Given the description of an element on the screen output the (x, y) to click on. 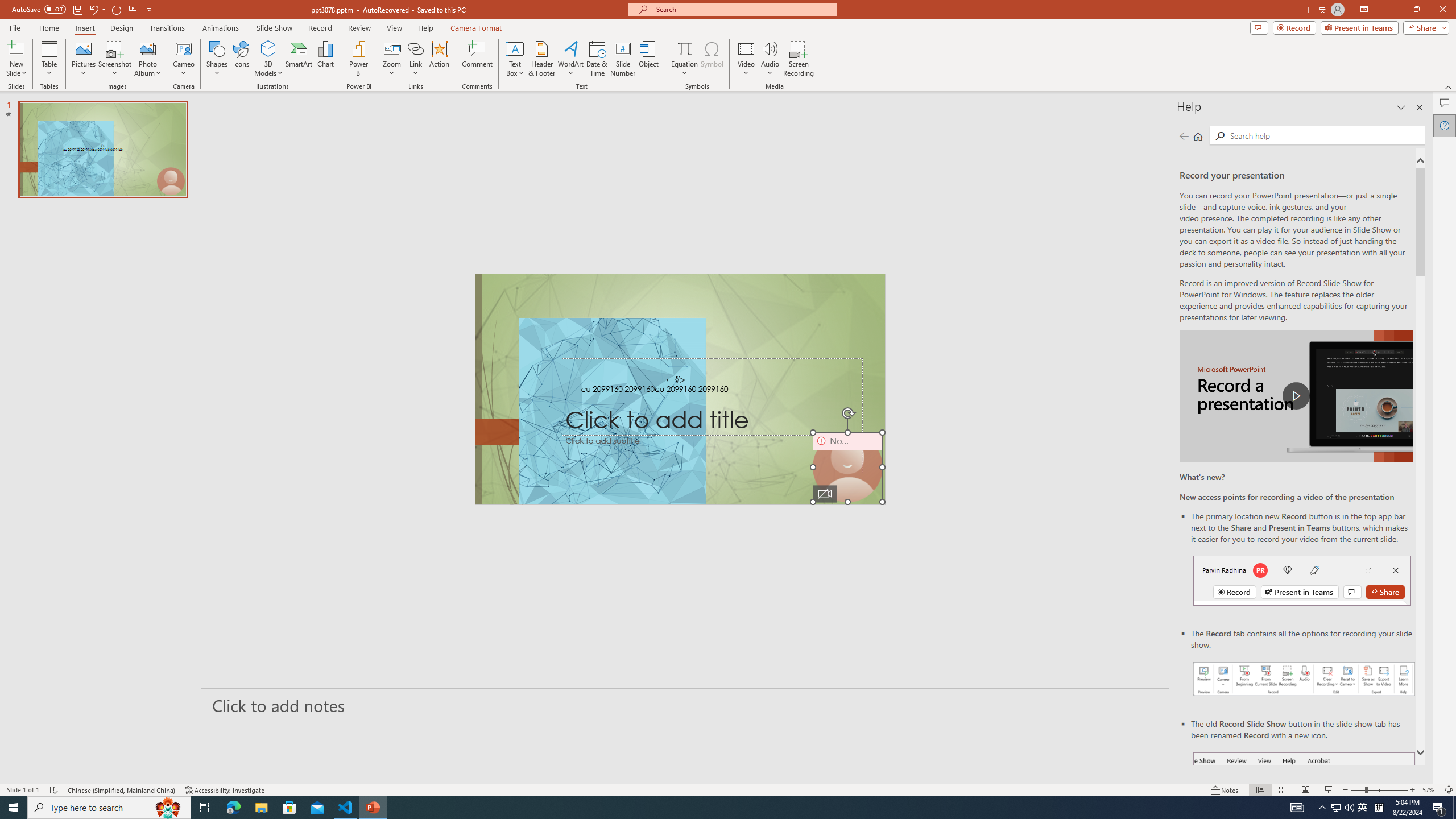
Table (49, 58)
SmartArt... (298, 58)
Icons (240, 58)
Slide Number (622, 58)
